Given the description of an element on the screen output the (x, y) to click on. 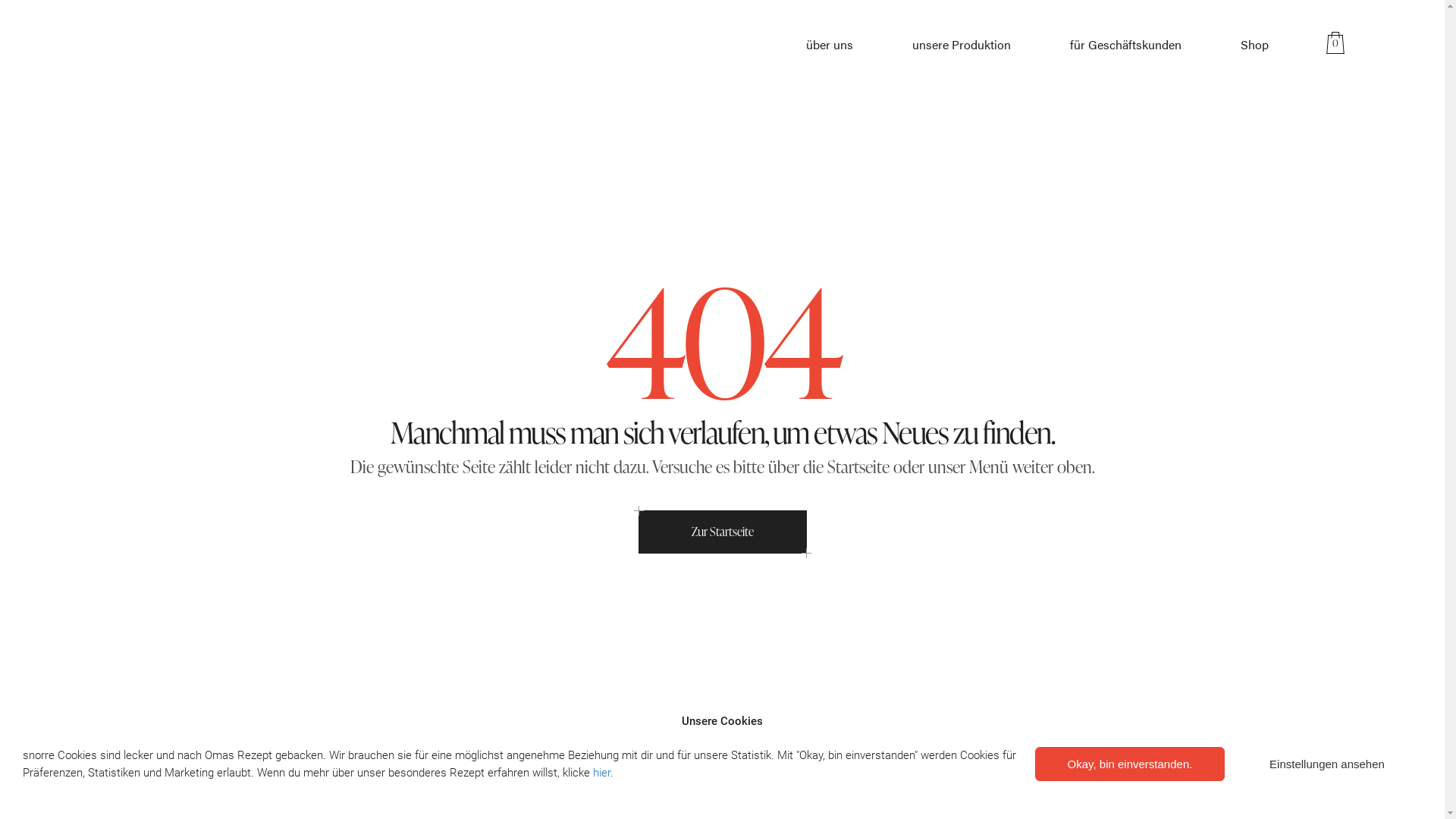
Shop Element type: text (1254, 43)
0 Element type: text (1338, 43)
Okay, bin einverstanden. Element type: text (1129, 763)
unsere Produktion Element type: text (961, 43)
Zur Startseite Element type: text (722, 531)
hier Element type: text (601, 772)
Einstellungen ansehen Element type: text (1326, 763)
